Given the description of an element on the screen output the (x, y) to click on. 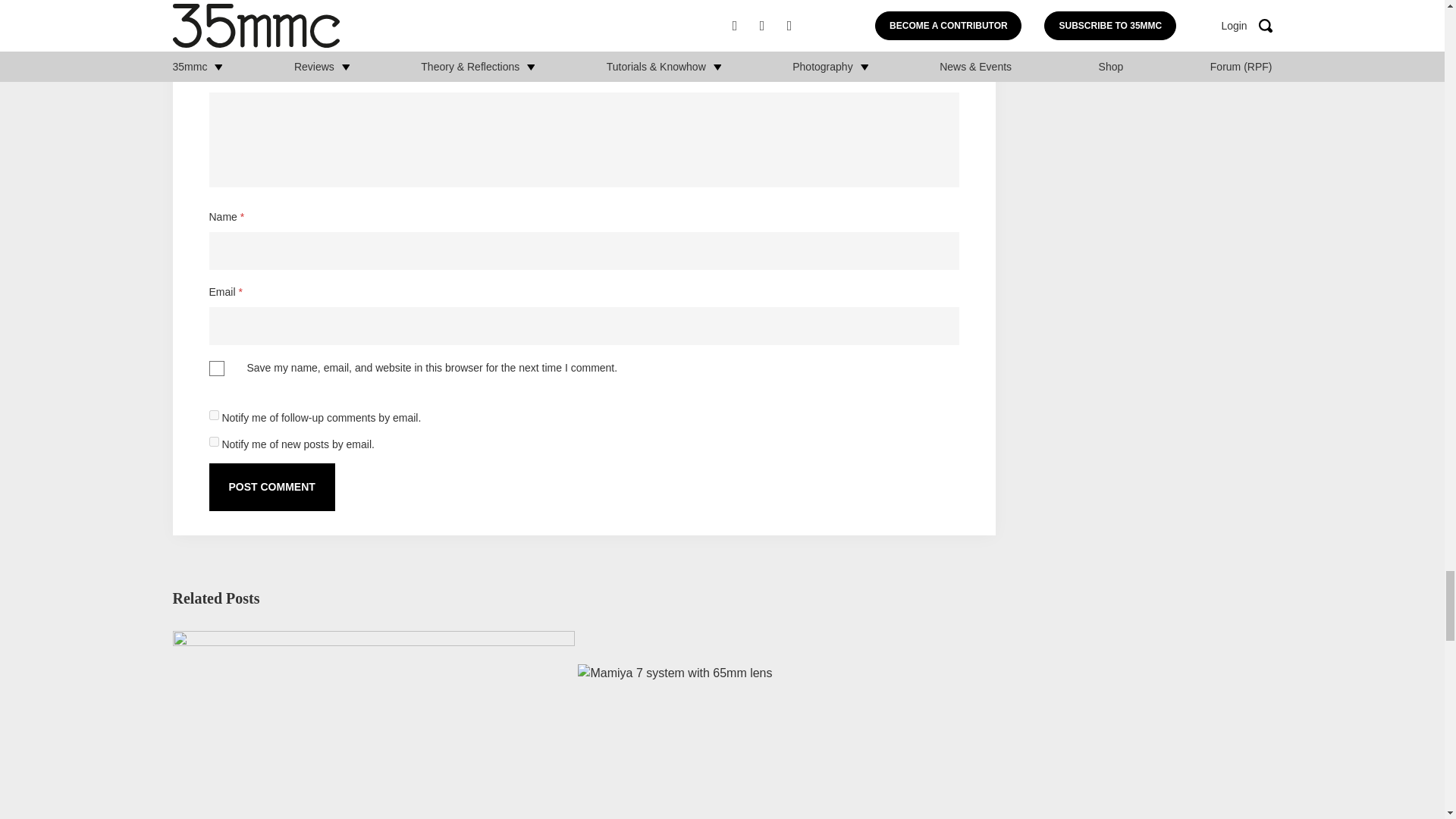
Post Comment (271, 487)
subscribe (214, 441)
subscribe (214, 415)
yes (216, 368)
